Given the description of an element on the screen output the (x, y) to click on. 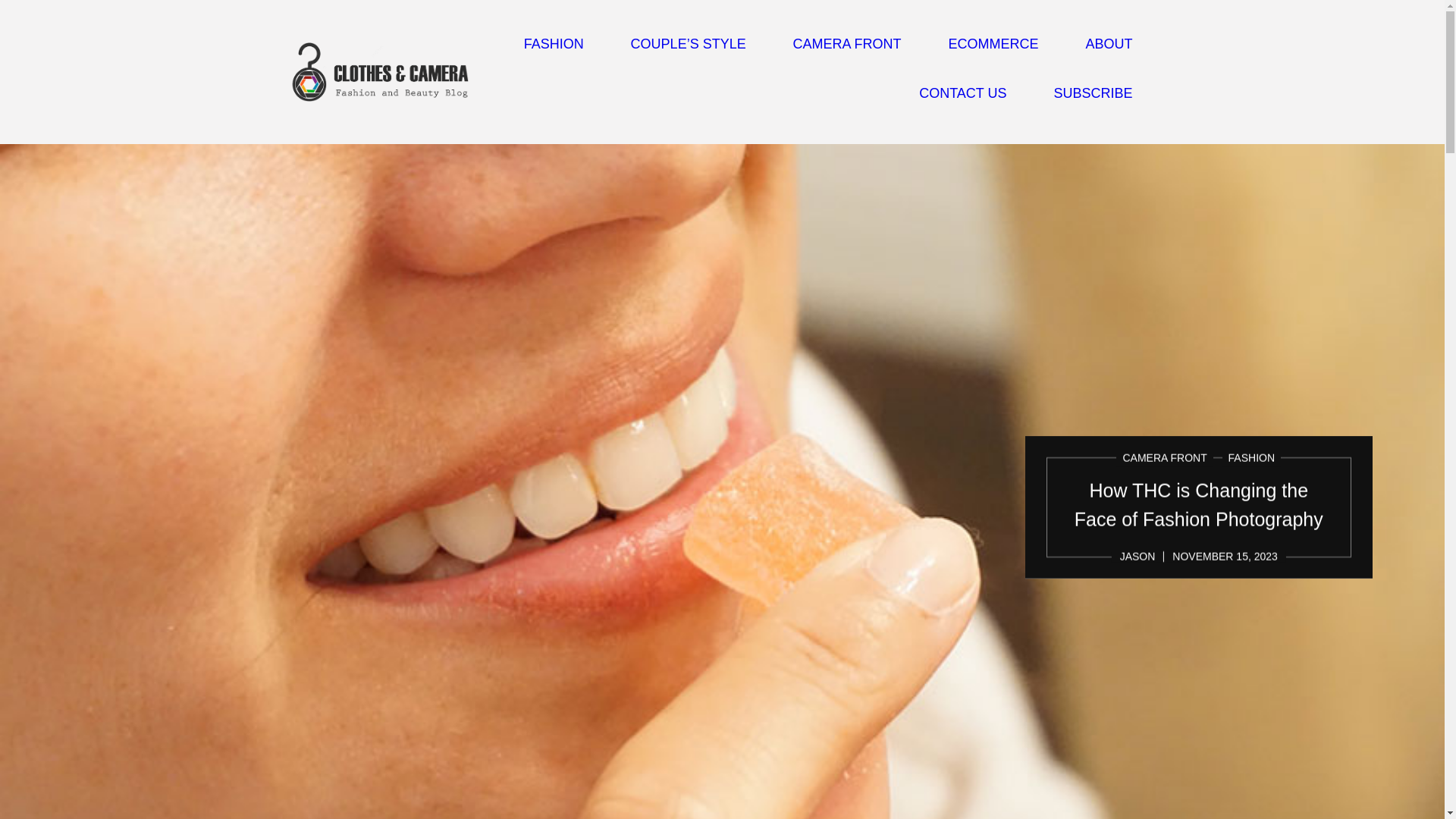
NOVEMBER 15, 2023 (1225, 585)
CONTACT US (961, 93)
FASHION (1251, 489)
CAMERA FRONT (847, 44)
ECOMMERCE (993, 44)
How THC is Changing the Face of Fashion Photography (1198, 536)
SUBSCRIBE (1092, 93)
CAMERA FRONT (1164, 490)
ABOUT (1108, 44)
JASON (1137, 586)
